Given the description of an element on the screen output the (x, y) to click on. 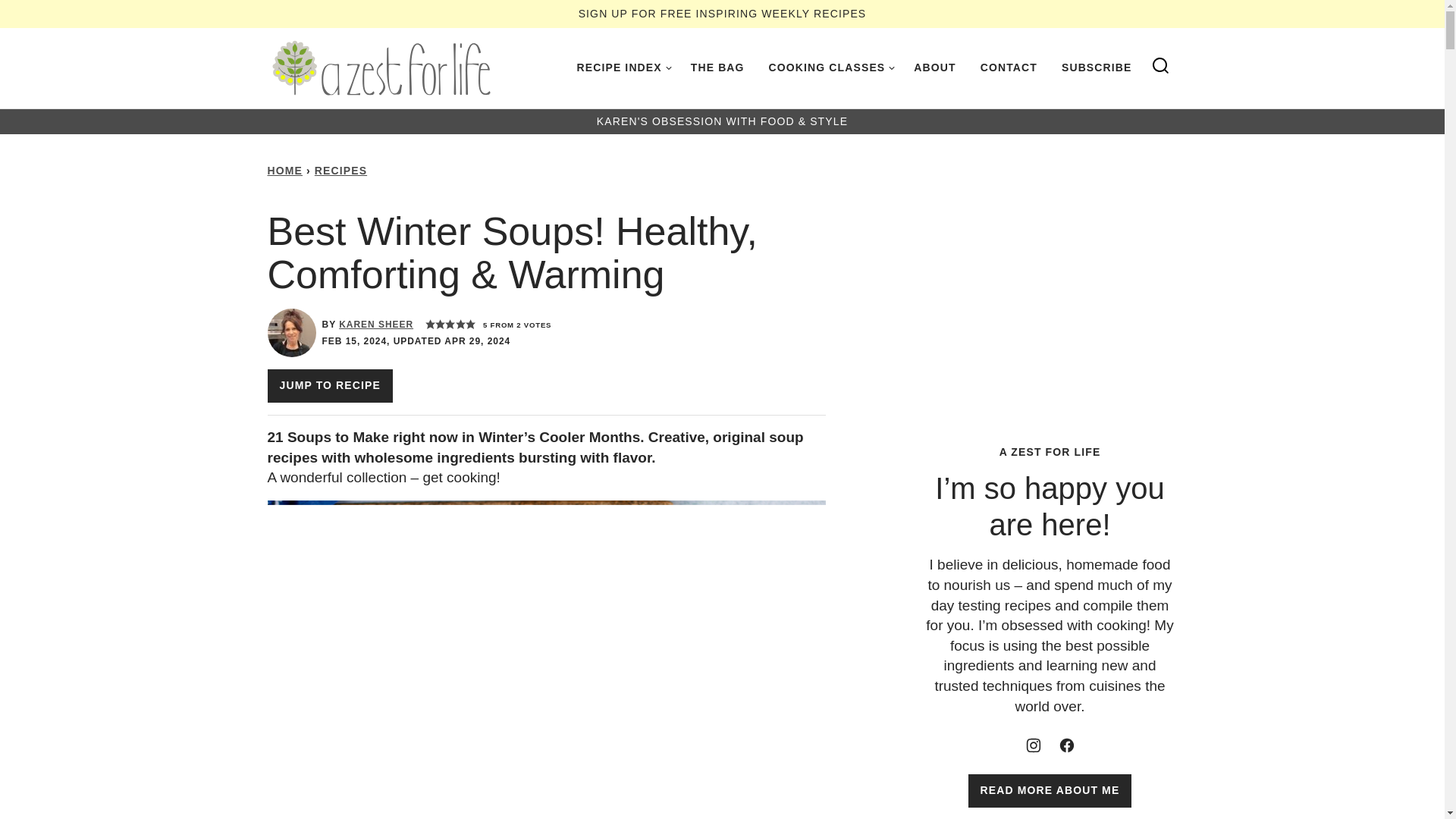
SUBSCRIBE (1096, 67)
THE BAG (717, 67)
JUMP TO RECIPE (328, 385)
COOKING CLASSES (829, 67)
RECIPE INDEX (621, 67)
SIGN UP FOR FREE INSPIRING WEEKLY RECIPES (722, 13)
RECIPES (340, 170)
ABOUT (934, 67)
KAREN SHEER (376, 324)
CONTACT (1008, 67)
